Given the description of an element on the screen output the (x, y) to click on. 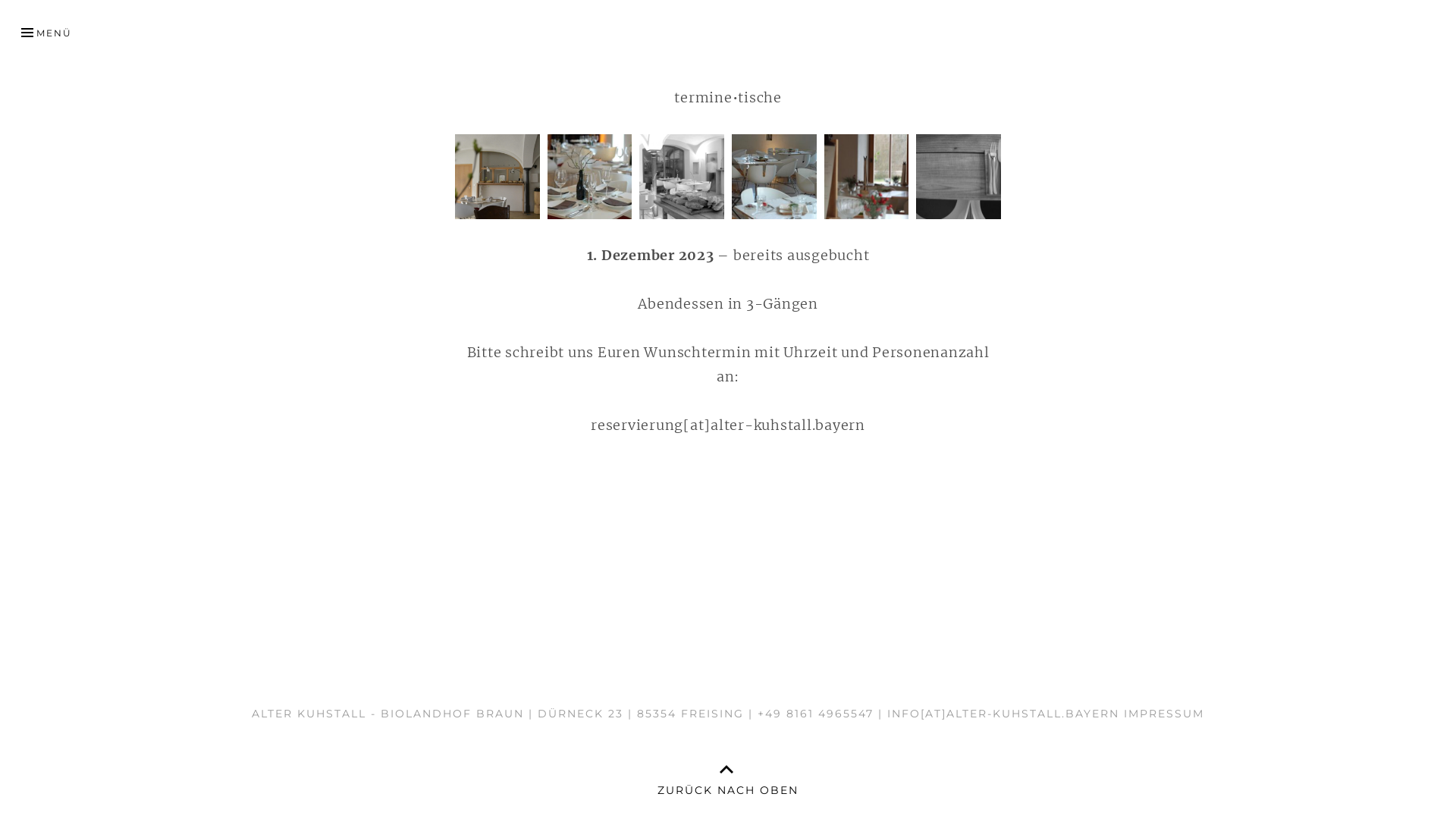
Raum 4 Element type: hover (773, 176)
Raum 1 Element type: hover (497, 175)
IMPRESSUM Element type: text (1163, 713)
Raum 6 Element type: hover (957, 176)
Raum 2 Element type: hover (589, 175)
Raum 3 Element type: hover (681, 176)
Raum 5 Element type: hover (866, 176)
